Given the description of an element on the screen output the (x, y) to click on. 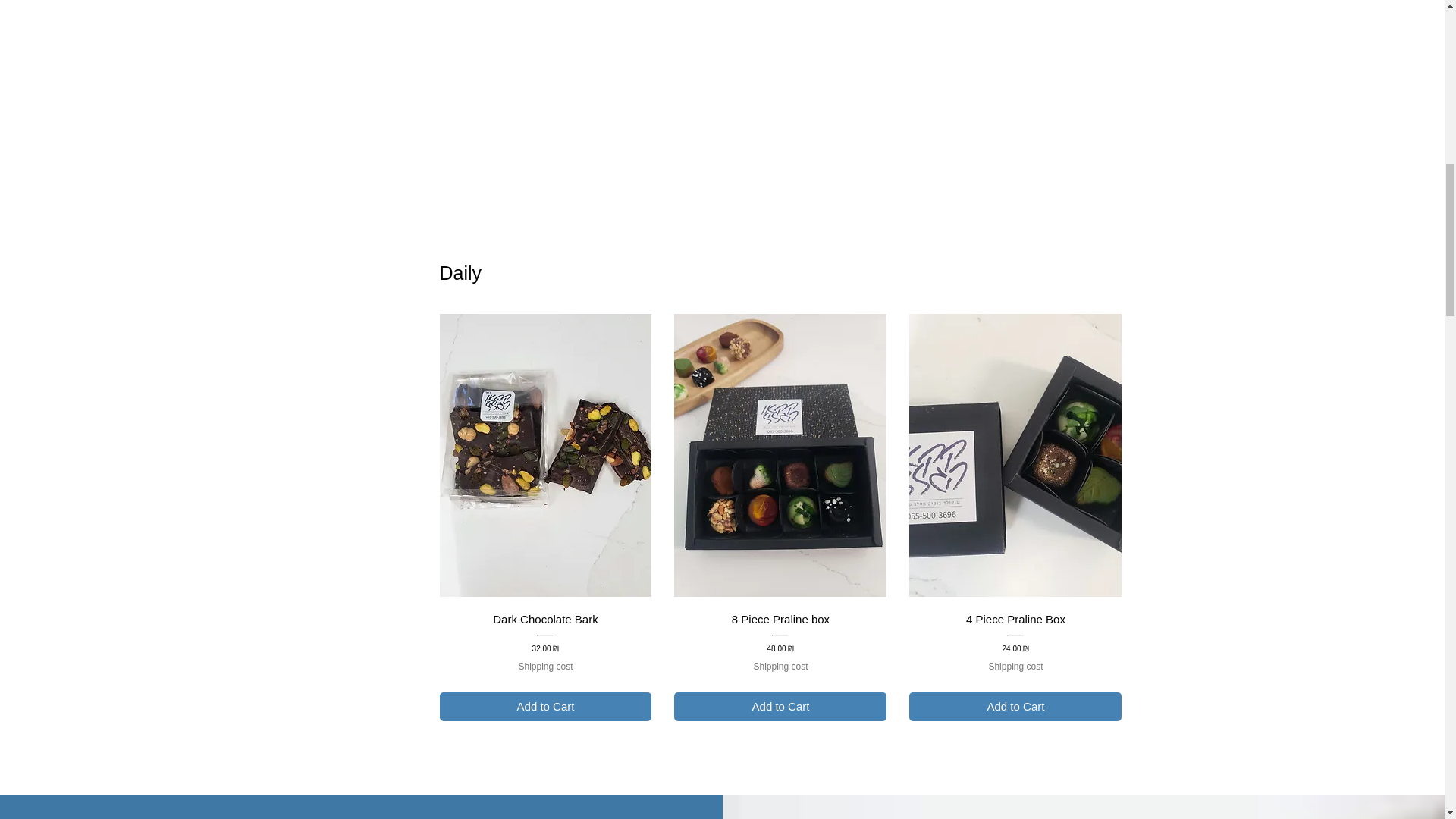
Add to Cart (780, 706)
Shipping cost (780, 666)
Add to Cart (545, 706)
Shipping cost (545, 666)
Add to Cart (1014, 706)
Shipping cost (1015, 666)
